Given the description of an element on the screen output the (x, y) to click on. 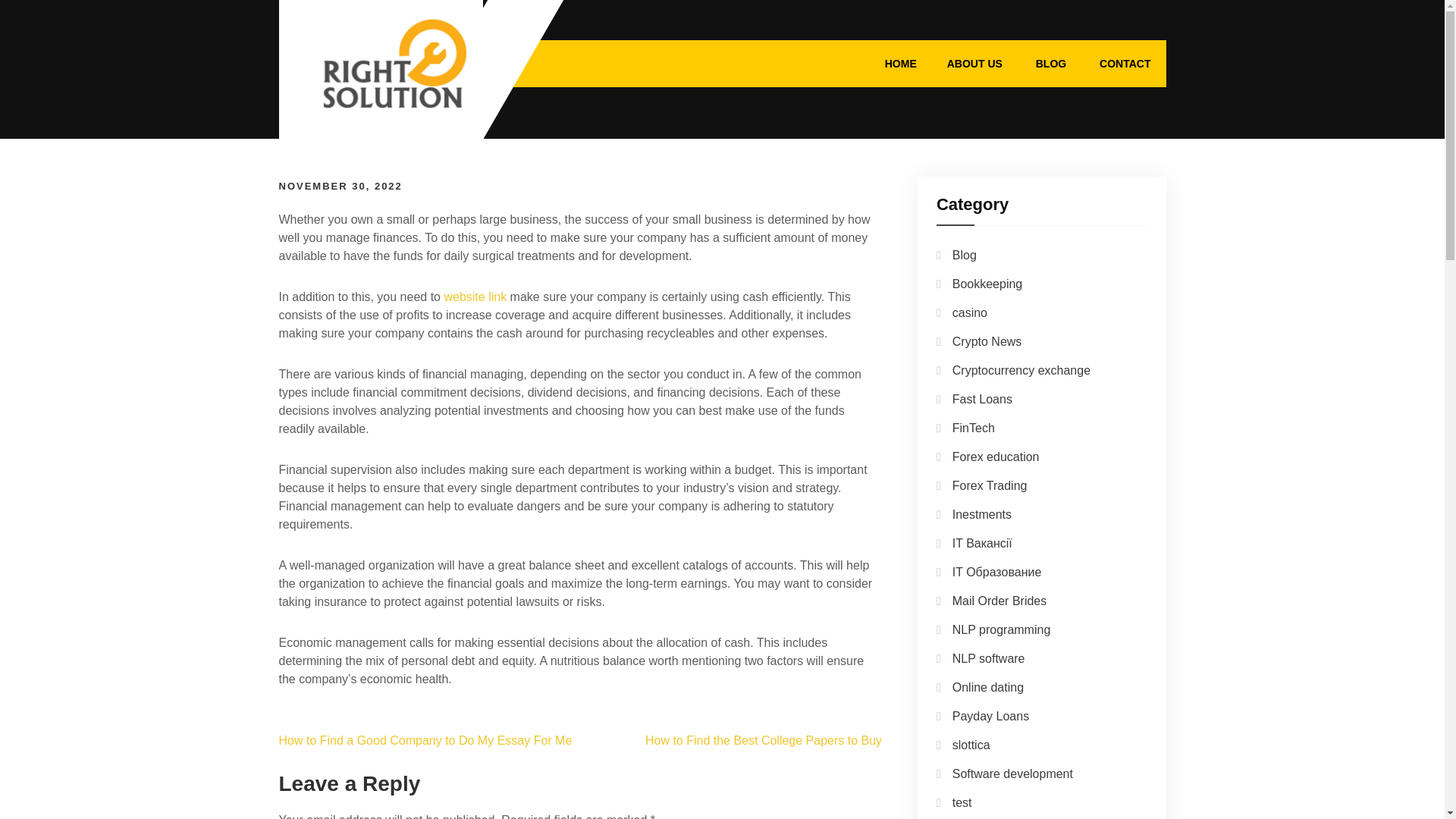
How to Find a Good Company to Do My Essay For Me (425, 739)
Fast Loans (981, 399)
Forex Trading (989, 485)
slottica (971, 744)
CONTACT (1125, 63)
Mail Order Brides (999, 600)
HOME (900, 63)
How to Find the Best College Papers to Buy (763, 739)
BLOG (1050, 63)
Cryptocurrency exchange (1021, 369)
